Given the description of an element on the screen output the (x, y) to click on. 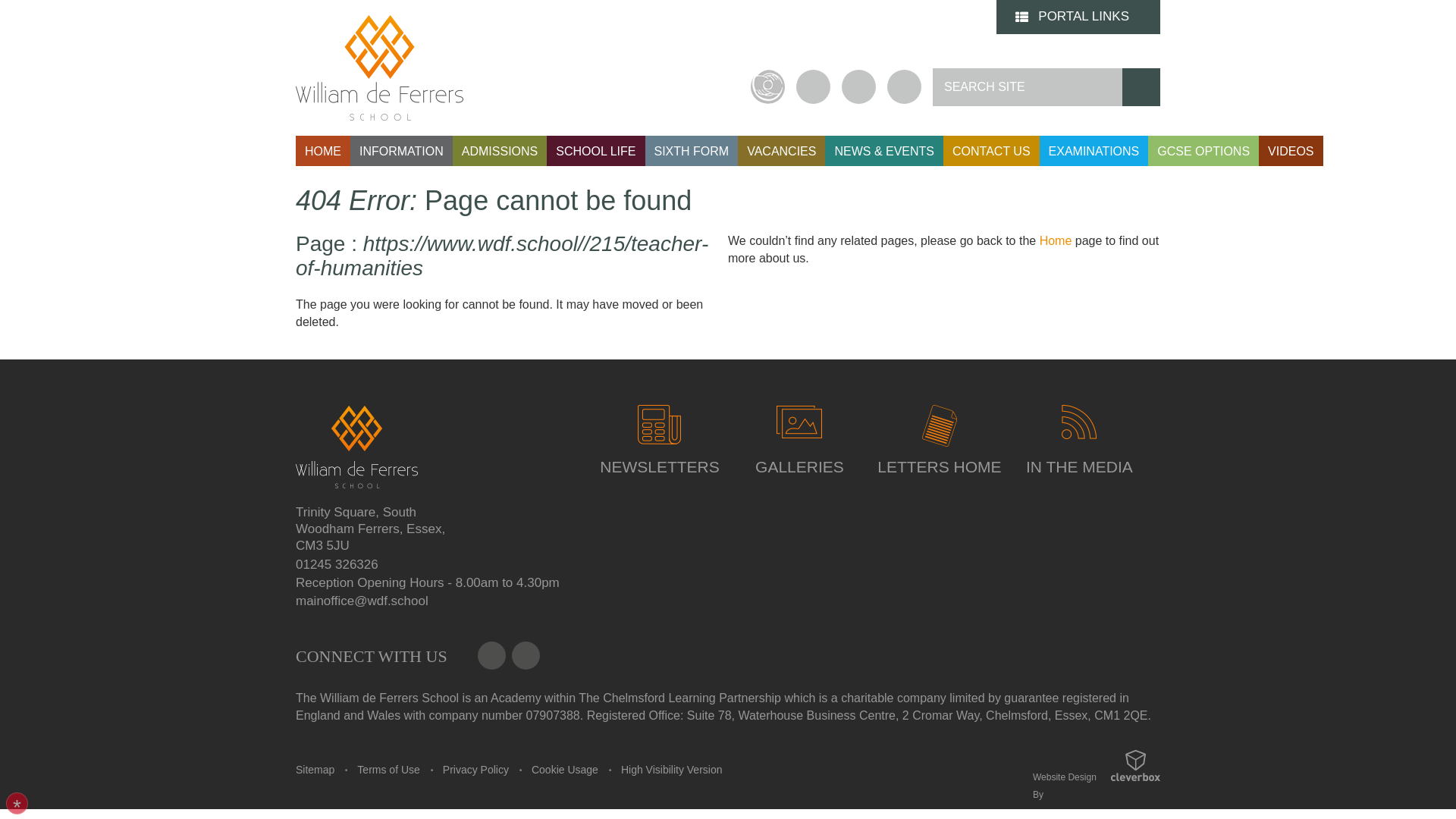
Galleries (798, 439)
ParentPay (767, 86)
Newsletters (659, 424)
Contact Us (903, 86)
Instagram (858, 86)
Facebook (812, 86)
William de Ferrers School (379, 67)
In the media (1078, 439)
William de Ferrers School (356, 495)
Galleries (799, 421)
Search Site (1027, 86)
Contact Us (526, 655)
Like us on Facebook (491, 655)
Letters Home (938, 439)
In the media (1078, 421)
